Given the description of an element on the screen output the (x, y) to click on. 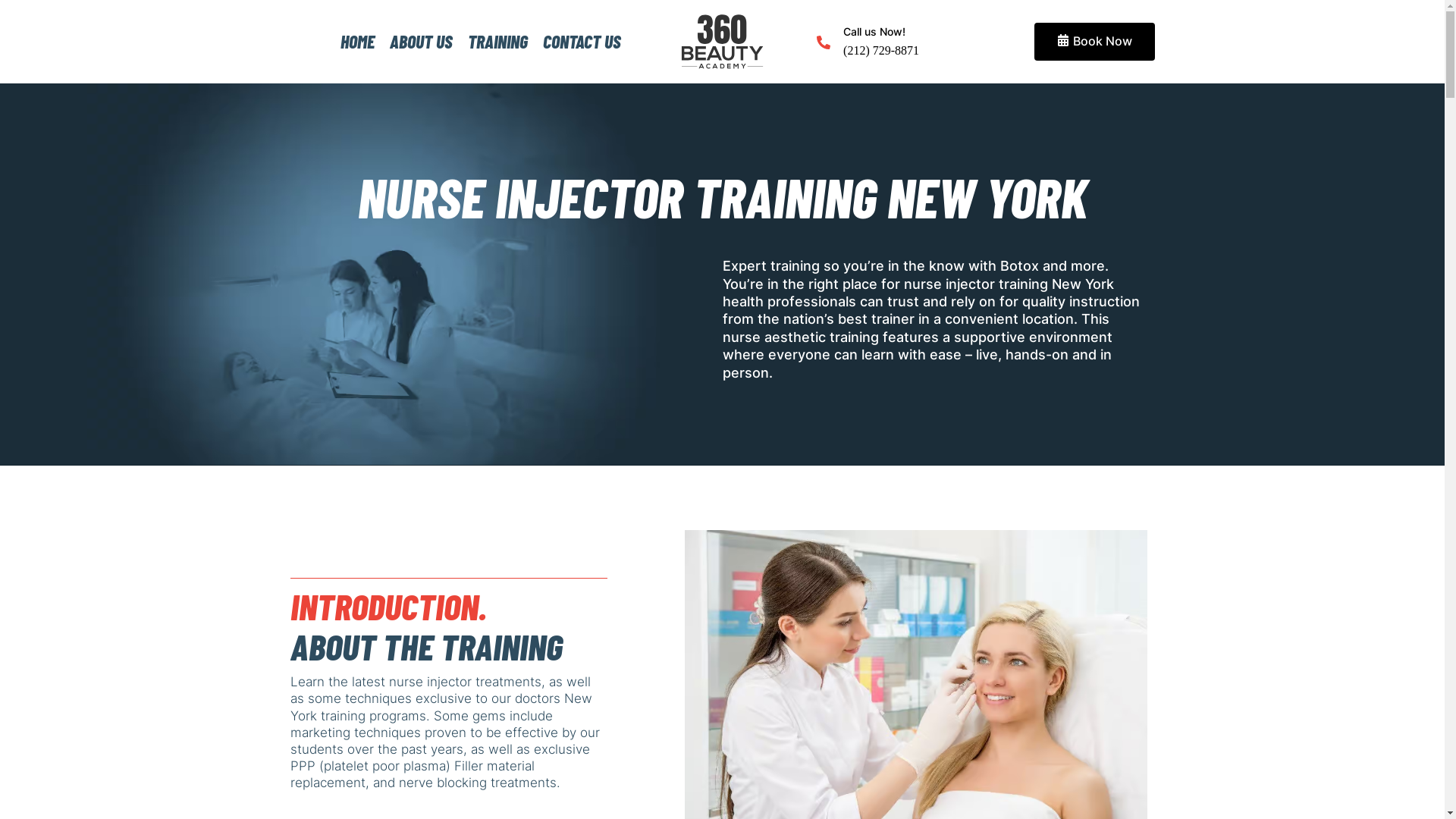
TRAINING Element type: text (496, 40)
ABOUT US Element type: text (421, 40)
(212) 729-8871 Element type: text (881, 49)
Book Now Element type: text (1094, 41)
HOME Element type: text (356, 40)
CONTACT US Element type: text (581, 40)
